Given the description of an element on the screen output the (x, y) to click on. 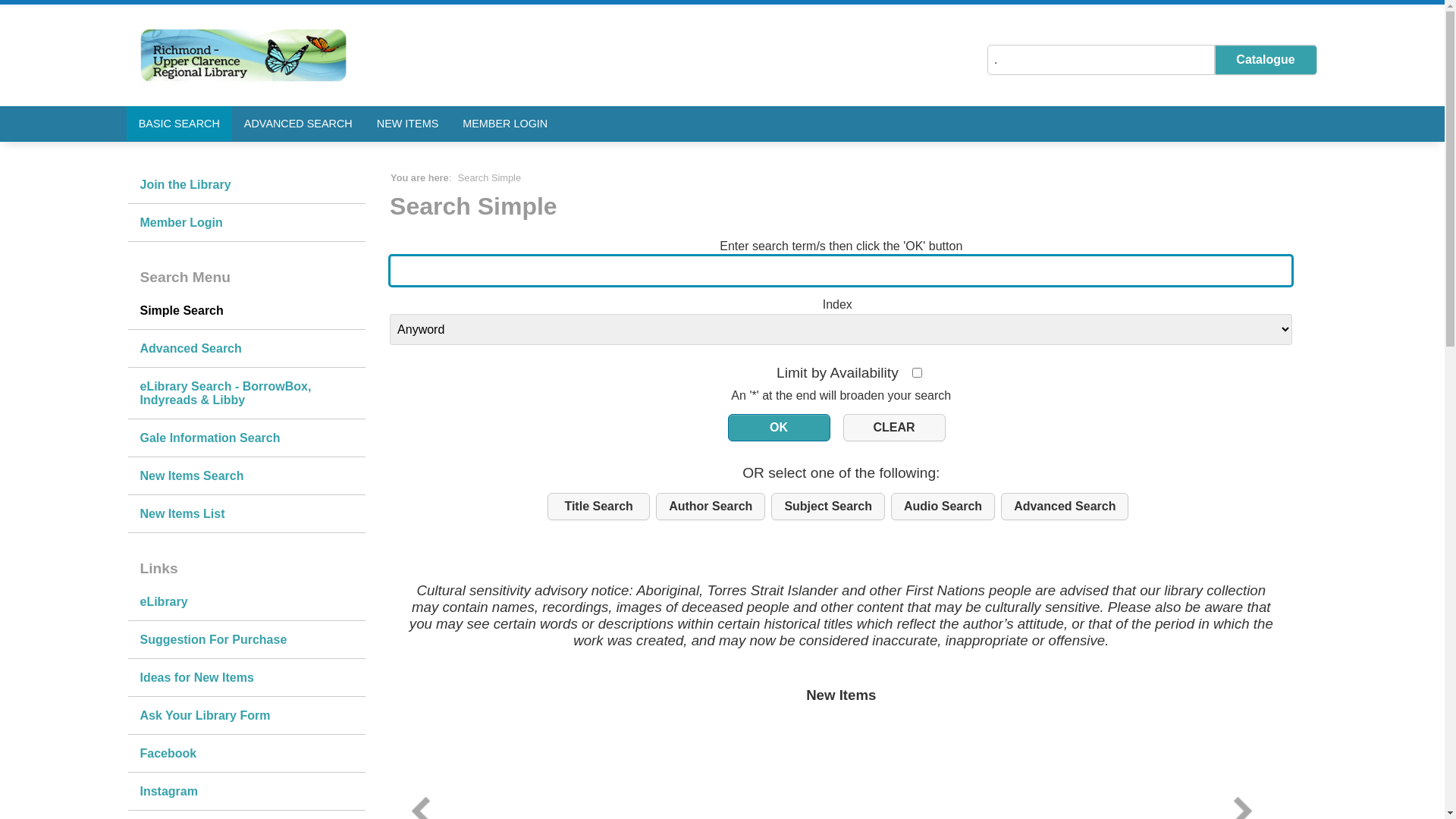
Ideas for New Items Element type: text (246, 677)
eLibrary Search - BorrowBox, Indyreads & Libby Element type: text (246, 393)
New Items List Element type: text (246, 514)
Advanced Search Element type: text (246, 348)
Facebook Element type: text (246, 753)
Member Login Element type: text (246, 222)
Suggestion For Purchase Element type: text (246, 639)
Simple Search Element type: text (246, 310)
eLibrary Element type: text (246, 602)
MEMBER LOGIN Element type: text (504, 123)
Catalogue Element type: text (1265, 59)
Ask Your Library Form Element type: text (246, 715)
Richmond-Upper Clarence Regional Library Element type: hover (242, 54)
BASIC SEARCH Element type: text (179, 123)
Alt-2 Element type: hover (894, 427)
Instagram Element type: text (246, 791)
ADVANCED SEARCH Element type: text (298, 123)
NEW ITEMS Element type: text (407, 123)
Join the Library Element type: text (246, 184)
OK Element type: text (779, 427)
Alt-1 Element type: hover (779, 427)
New Items Search Element type: text (246, 476)
Gale Information Search Element type: text (246, 438)
